Given the description of an element on the screen output the (x, y) to click on. 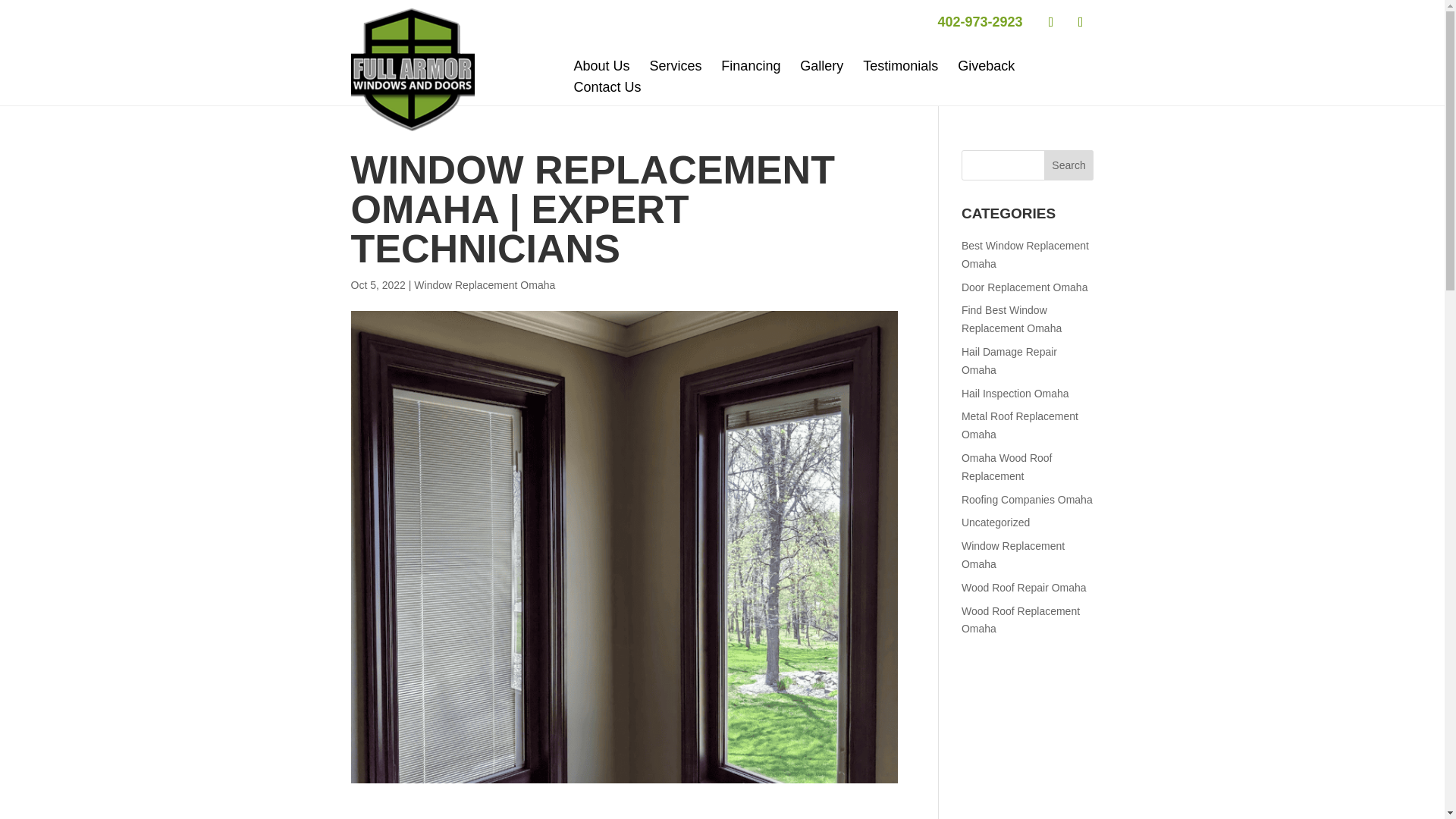
Hail Inspection Omaha (1014, 393)
Search (1068, 164)
Contact Us (606, 86)
Giveback (986, 65)
Roofing Companies Omaha (1026, 499)
Services (675, 65)
Wood Roof Replacement Omaha (1020, 620)
Find Best Window Replacement Omaha (1010, 318)
Metal Roof Replacement Omaha (1019, 425)
Uncategorized (994, 522)
About Us (600, 65)
Wood Roof Repair Omaha (1023, 587)
Door Replacement Omaha (1023, 287)
Search (1068, 164)
Omaha Wood Roof Replacement (1006, 467)
